Given the description of an element on the screen output the (x, y) to click on. 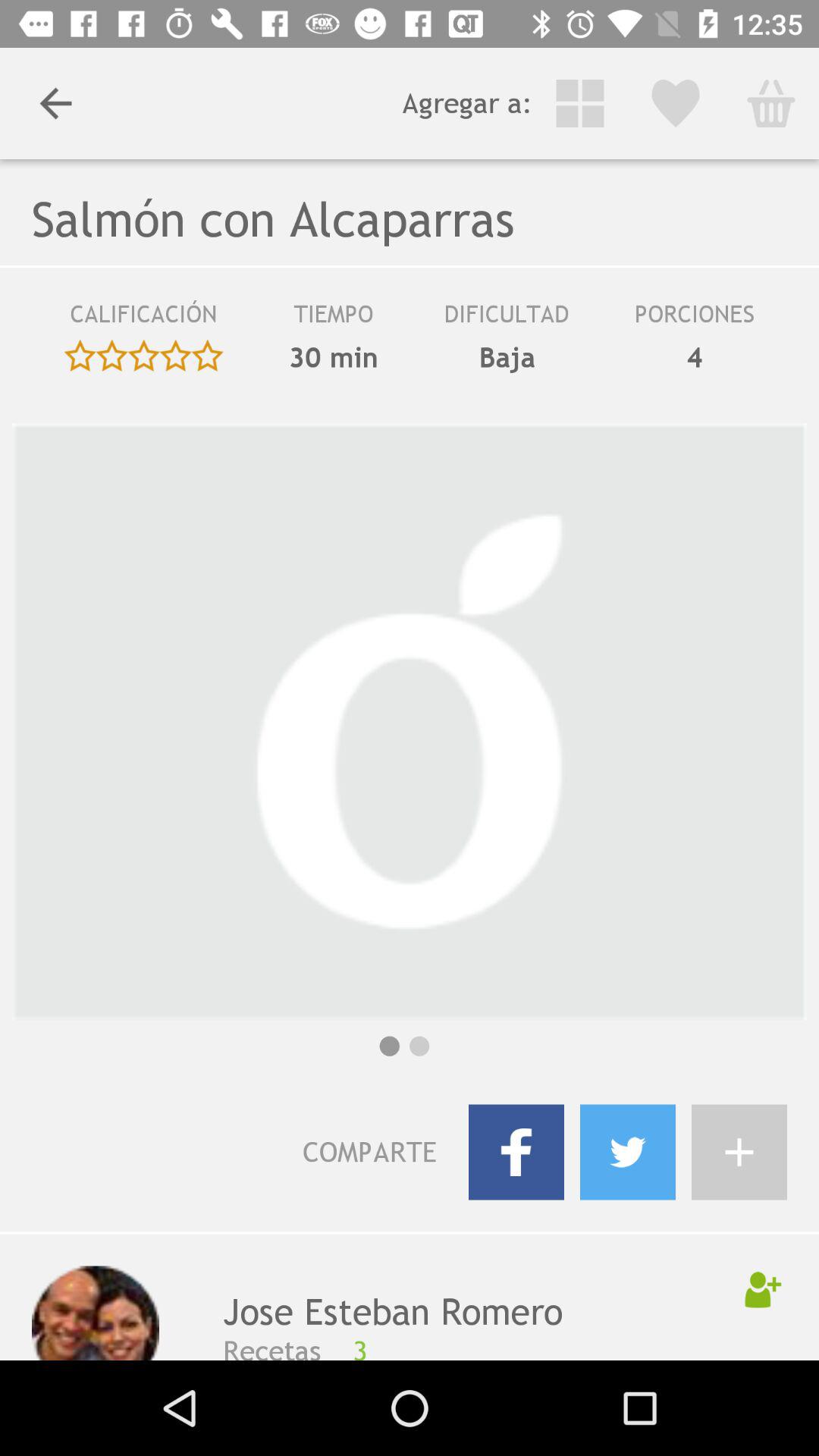
select the icon below the dificultad icon (506, 357)
